Given the description of an element on the screen output the (x, y) to click on. 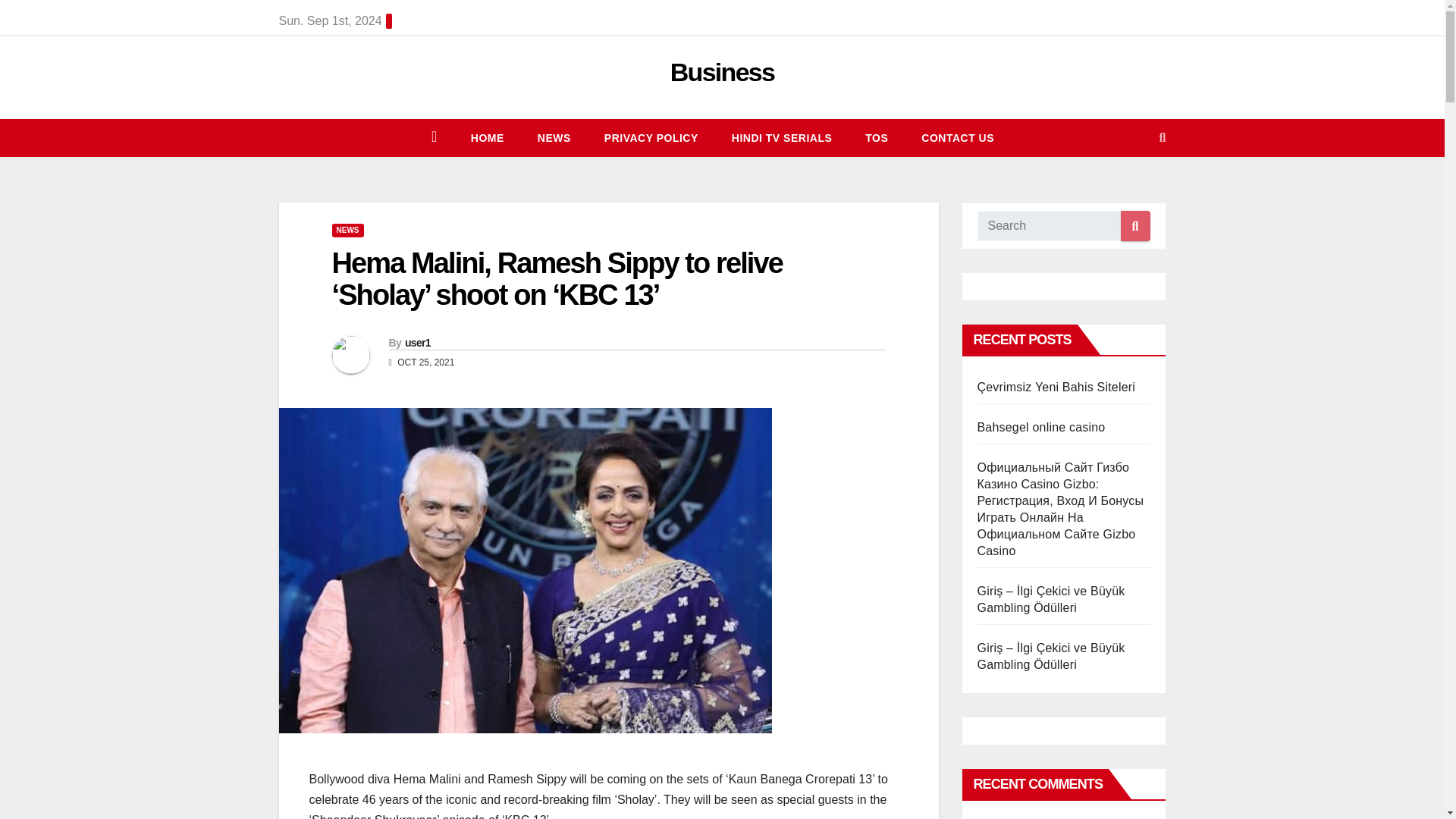
CONTACT US (957, 137)
NEWS (554, 137)
News (554, 137)
HINDI TV SERIALS (781, 137)
Privacy Policy (651, 137)
TOS (876, 137)
HOME (487, 137)
Home (487, 137)
Business (721, 71)
user1 (417, 342)
